Given the description of an element on the screen output the (x, y) to click on. 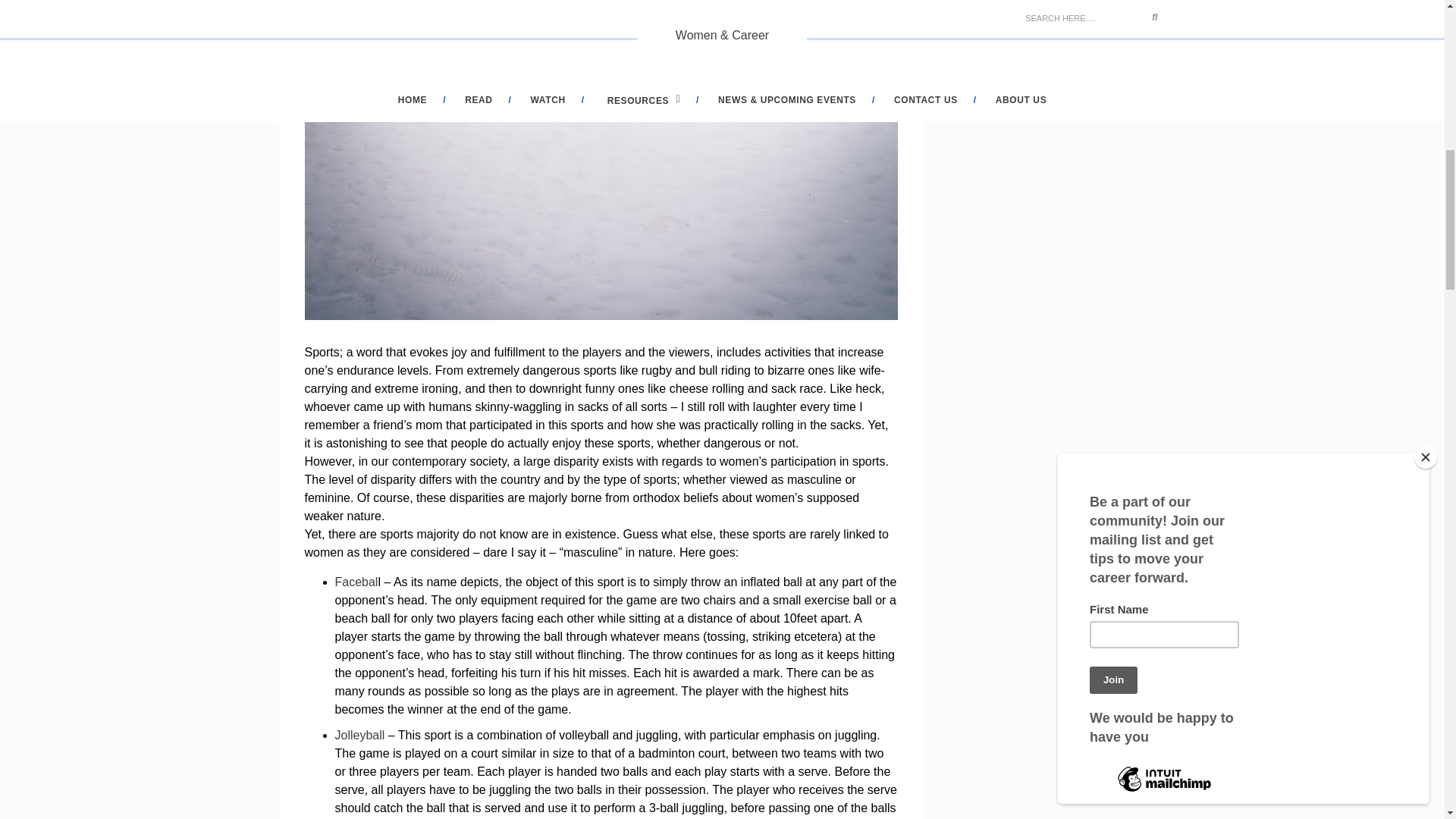
Jolleyball (359, 735)
Facebal (356, 581)
